Given the description of an element on the screen output the (x, y) to click on. 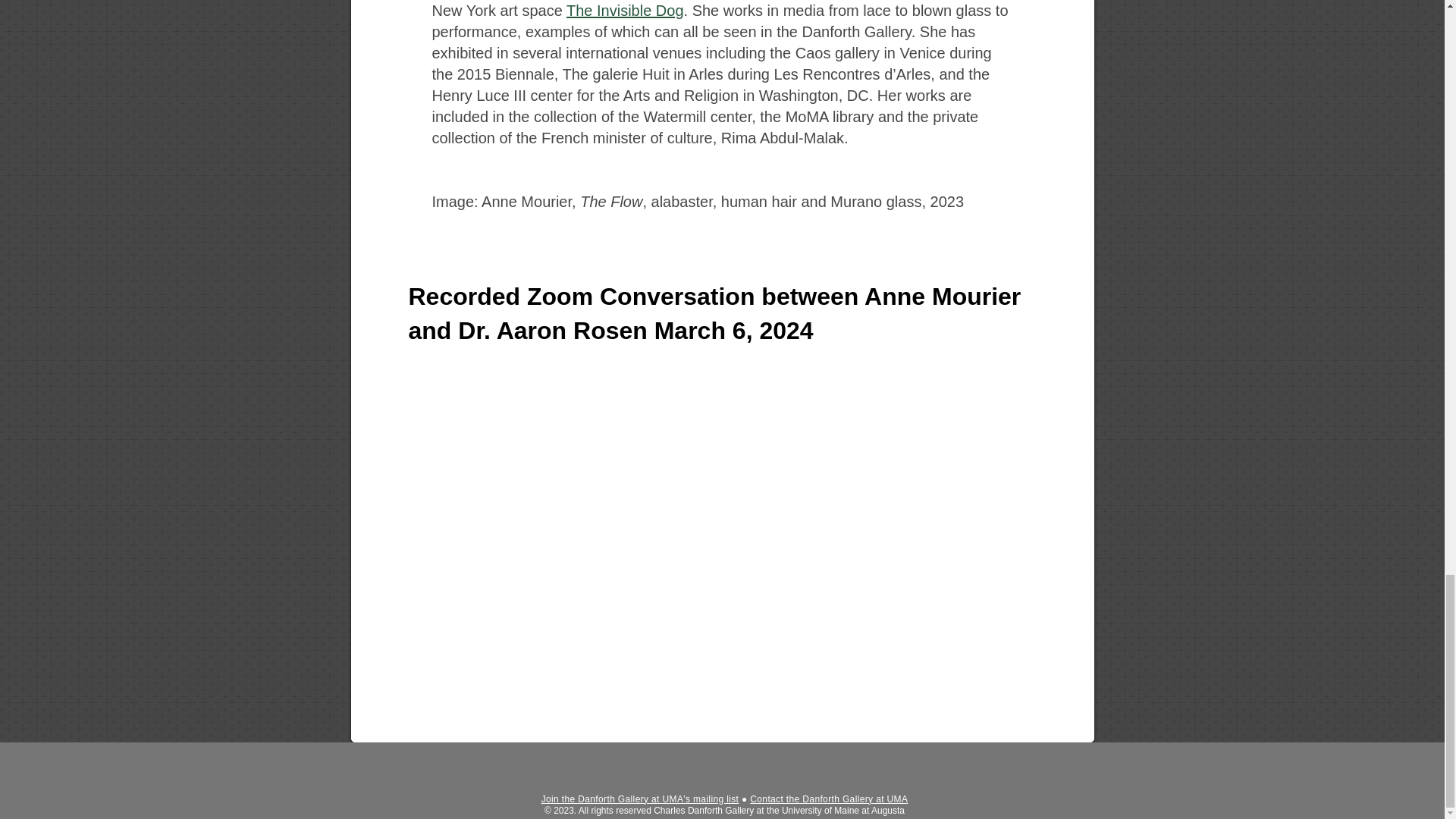
Contact the Danforth Gallery at UMA (828, 798)
Join the Danforth Gallery at UMA's mailing list (640, 798)
The Invisible Dog (625, 10)
